Given the description of an element on the screen output the (x, y) to click on. 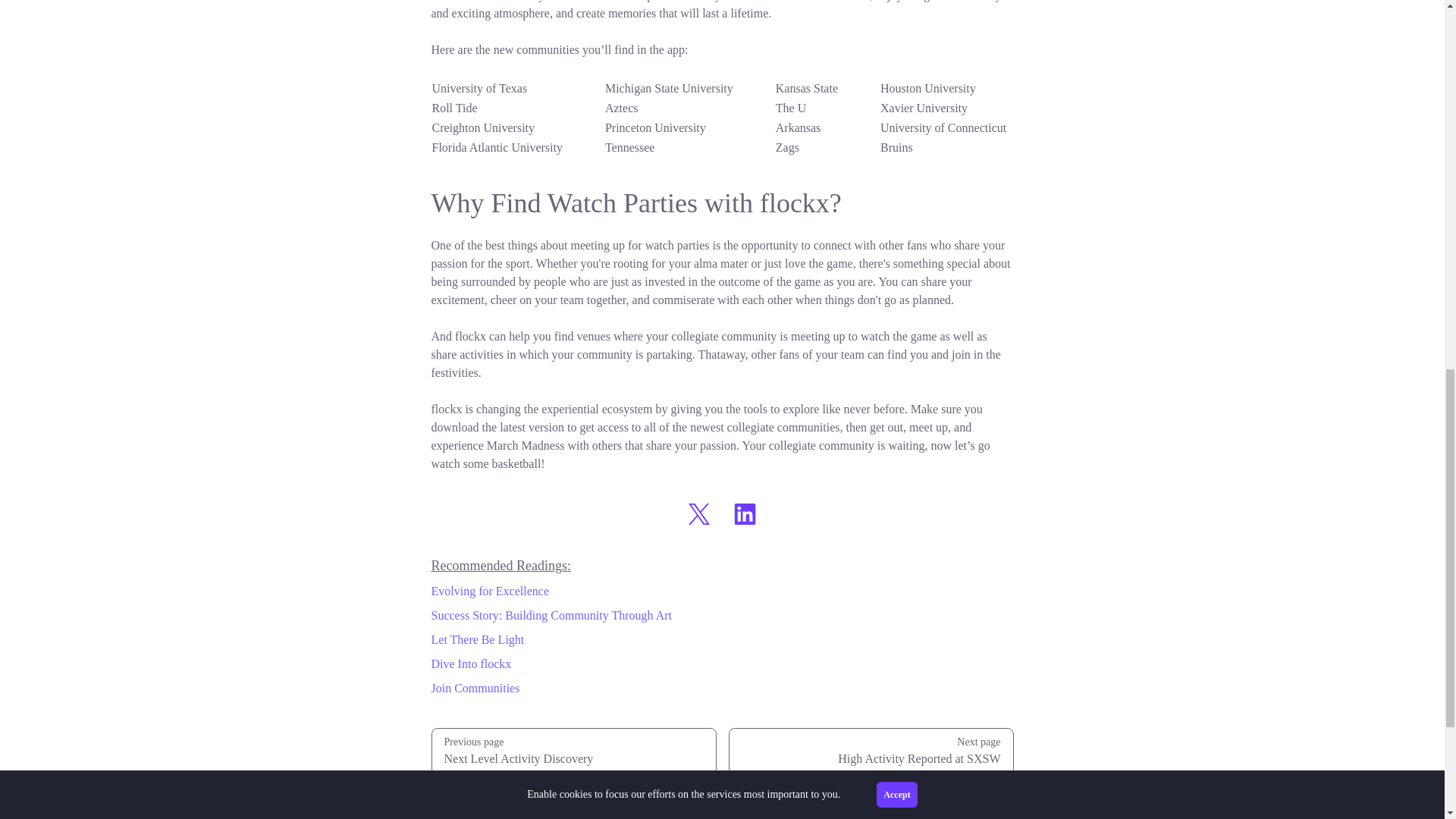
Join Communities (721, 688)
Let There Be Light (721, 639)
Evolving for Excellence (573, 751)
Dive Into flockx (721, 591)
Success Story: Building Community Through Art (721, 664)
